Given the description of an element on the screen output the (x, y) to click on. 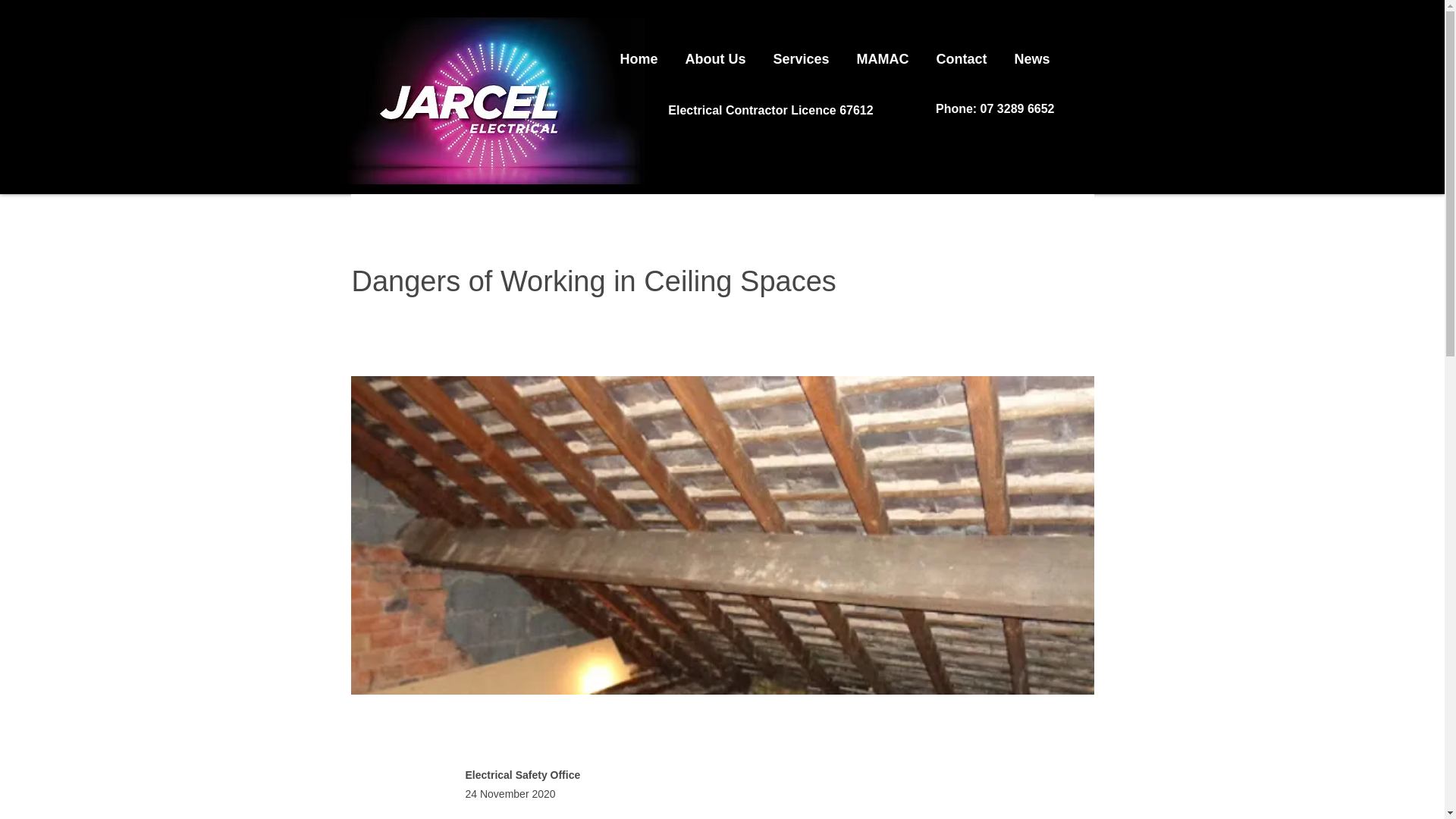
Home Element type: text (638, 52)
Services Element type: text (801, 52)
Contact Element type: text (961, 52)
About Us Element type: text (715, 52)
News Element type: text (1032, 52)
MAMAC Element type: text (882, 52)
